Given the description of an element on the screen output the (x, y) to click on. 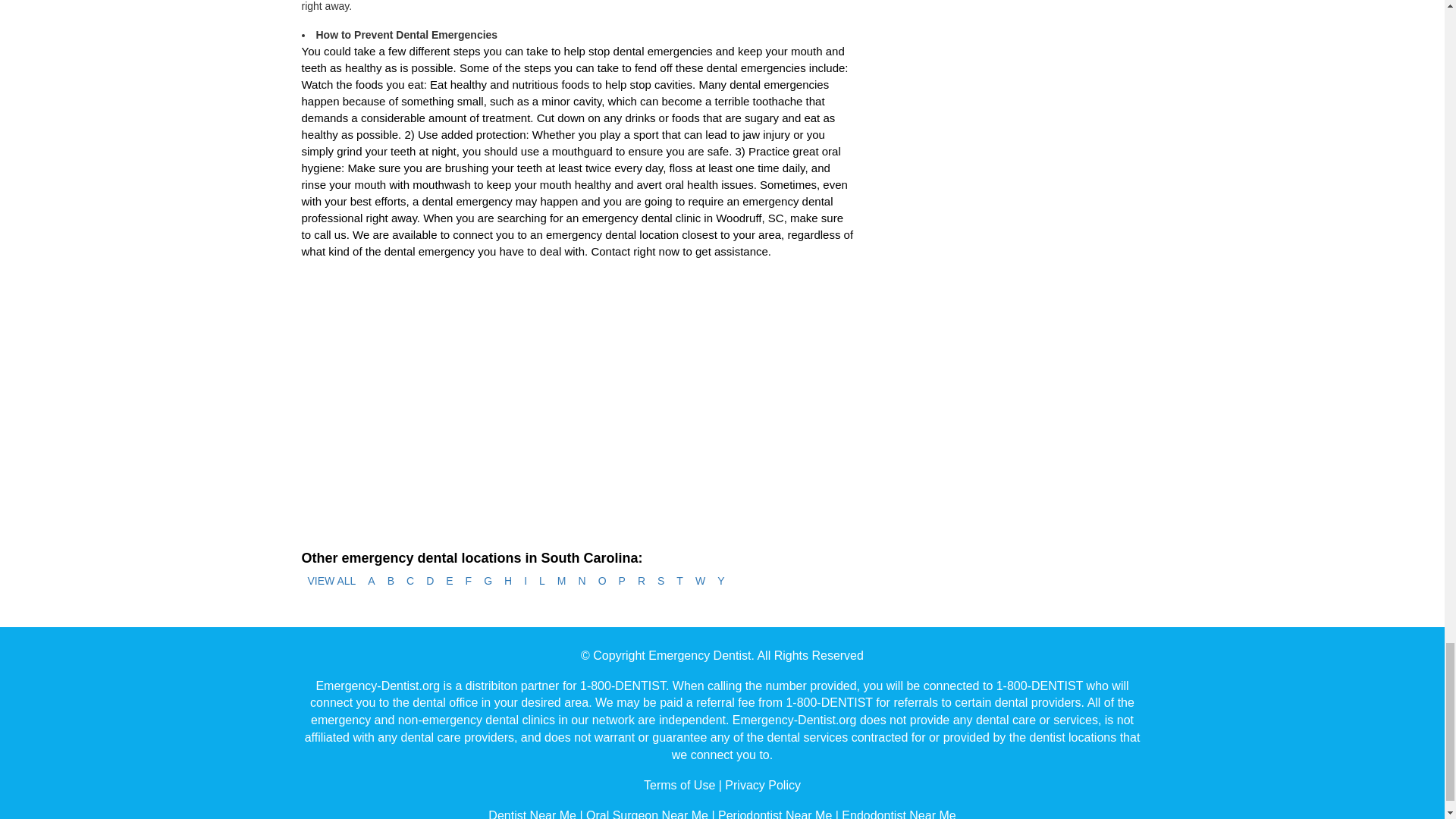
Oral Surgeon Near Me (646, 814)
O (602, 581)
VIEW ALL (331, 581)
Periodontist Near Me (774, 814)
T (678, 581)
W (699, 581)
C (410, 581)
S (659, 581)
I (525, 581)
R (640, 581)
E (448, 581)
Y (720, 581)
F (469, 581)
D (429, 581)
G (487, 581)
